Given the description of an element on the screen output the (x, y) to click on. 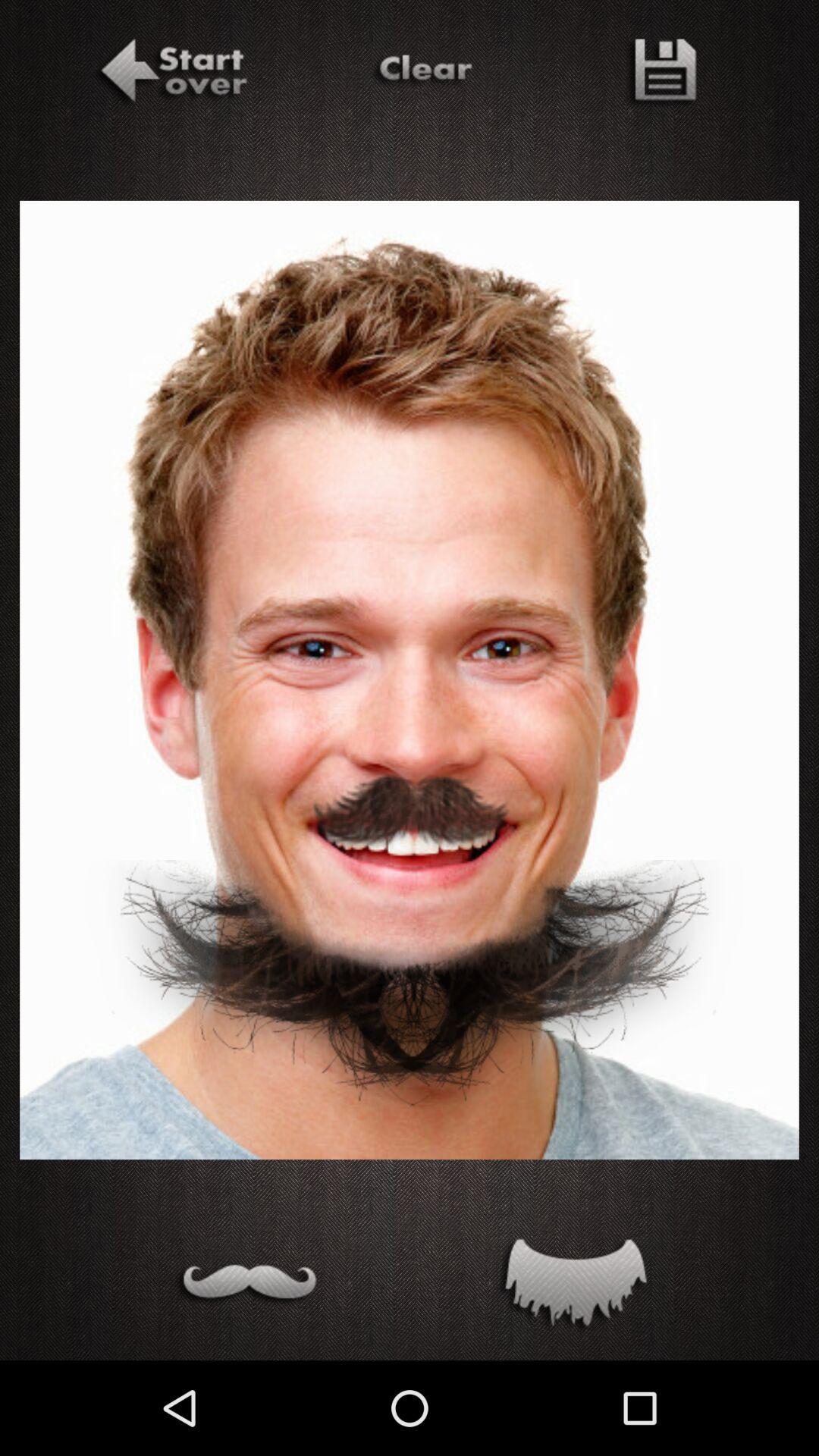
add beard (571, 1286)
